Given the description of an element on the screen output the (x, y) to click on. 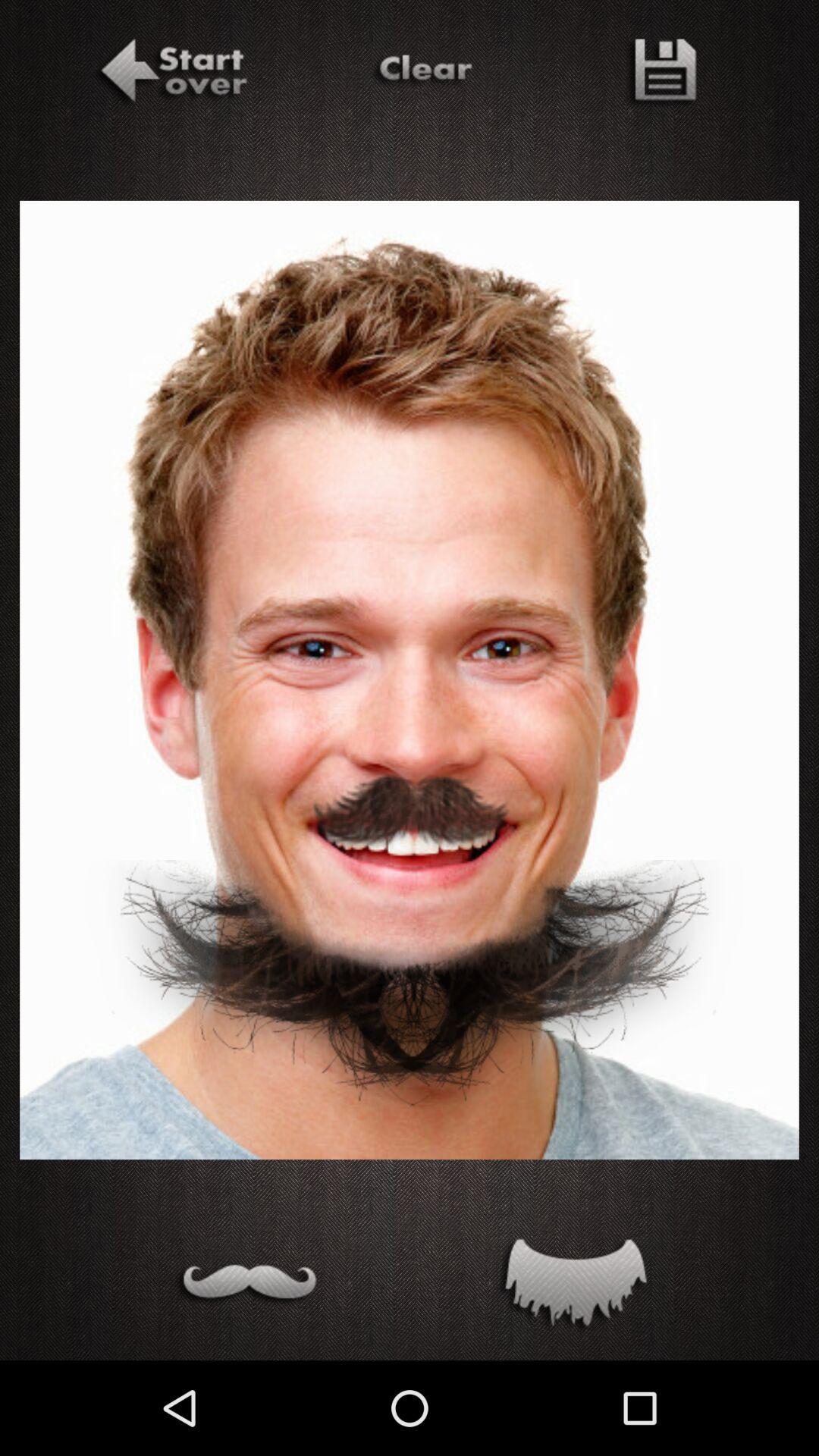
add beard (571, 1286)
